Given the description of an element on the screen output the (x, y) to click on. 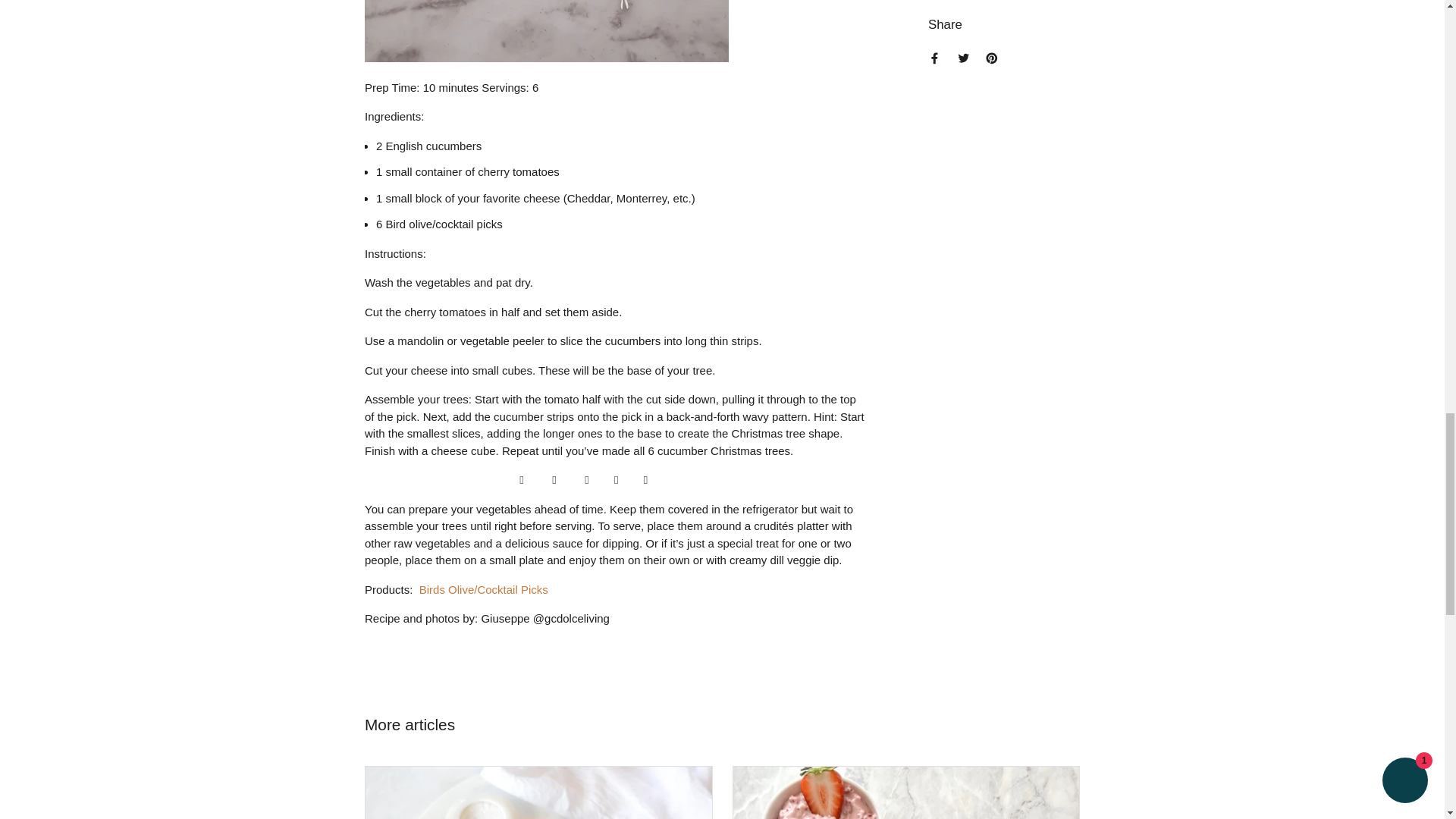
Holiday Cranberry Dip (906, 792)
Homemade Salted Caramel (539, 792)
